Given the description of an element on the screen output the (x, y) to click on. 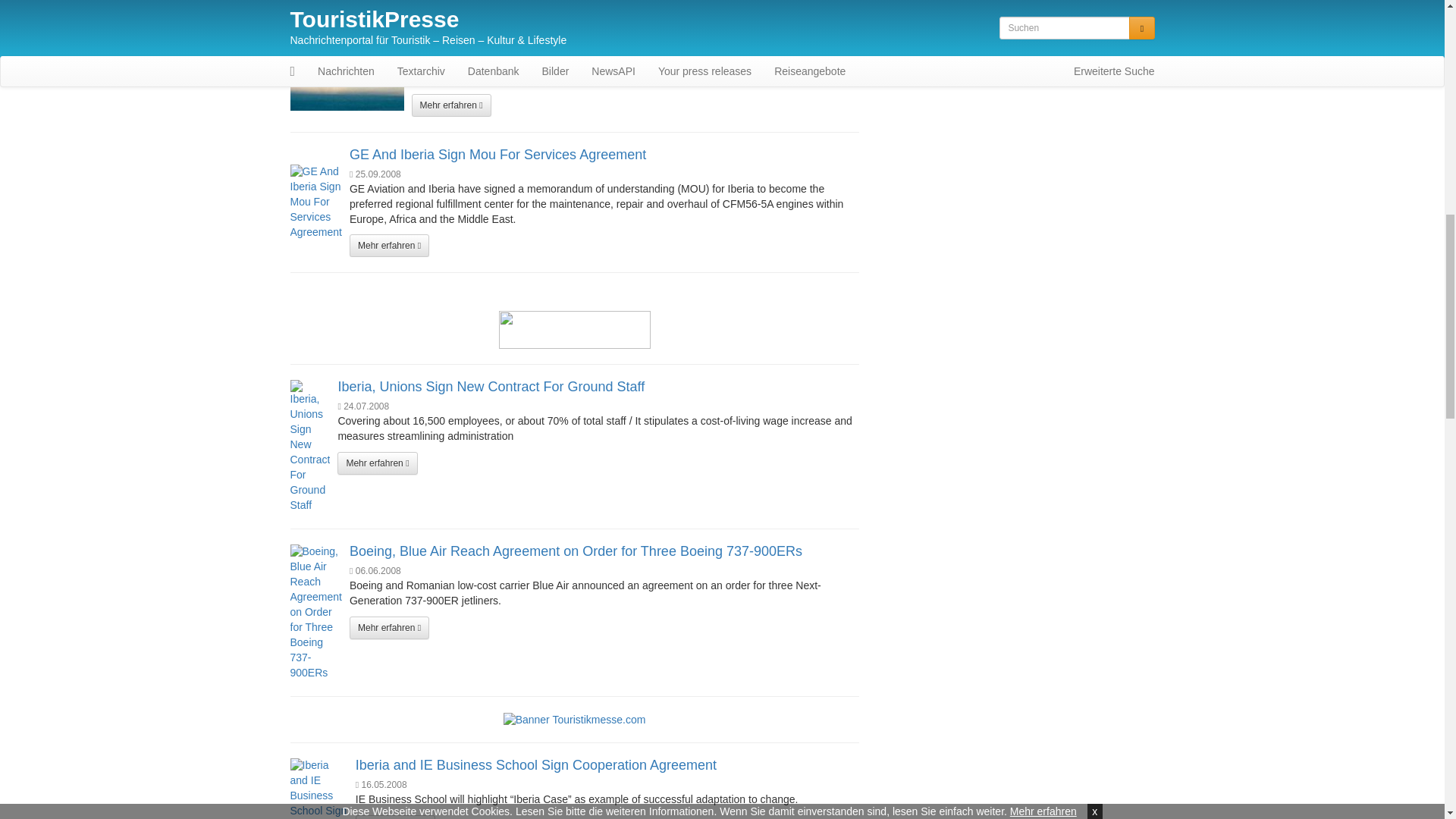
Iberia and IE Business School Sign Cooperation Agreement (535, 765)
Mehr erfahren (450, 105)
GE And Iberia Sign Mou For Services Agreement (497, 154)
Iberia and IE Business School Sign Cooperation Agreement (318, 788)
Iberia, Unions Sign New Contract For Ground Staff (491, 386)
Mehr erfahren (376, 463)
Mehr erfahren (389, 627)
